Given the description of an element on the screen output the (x, y) to click on. 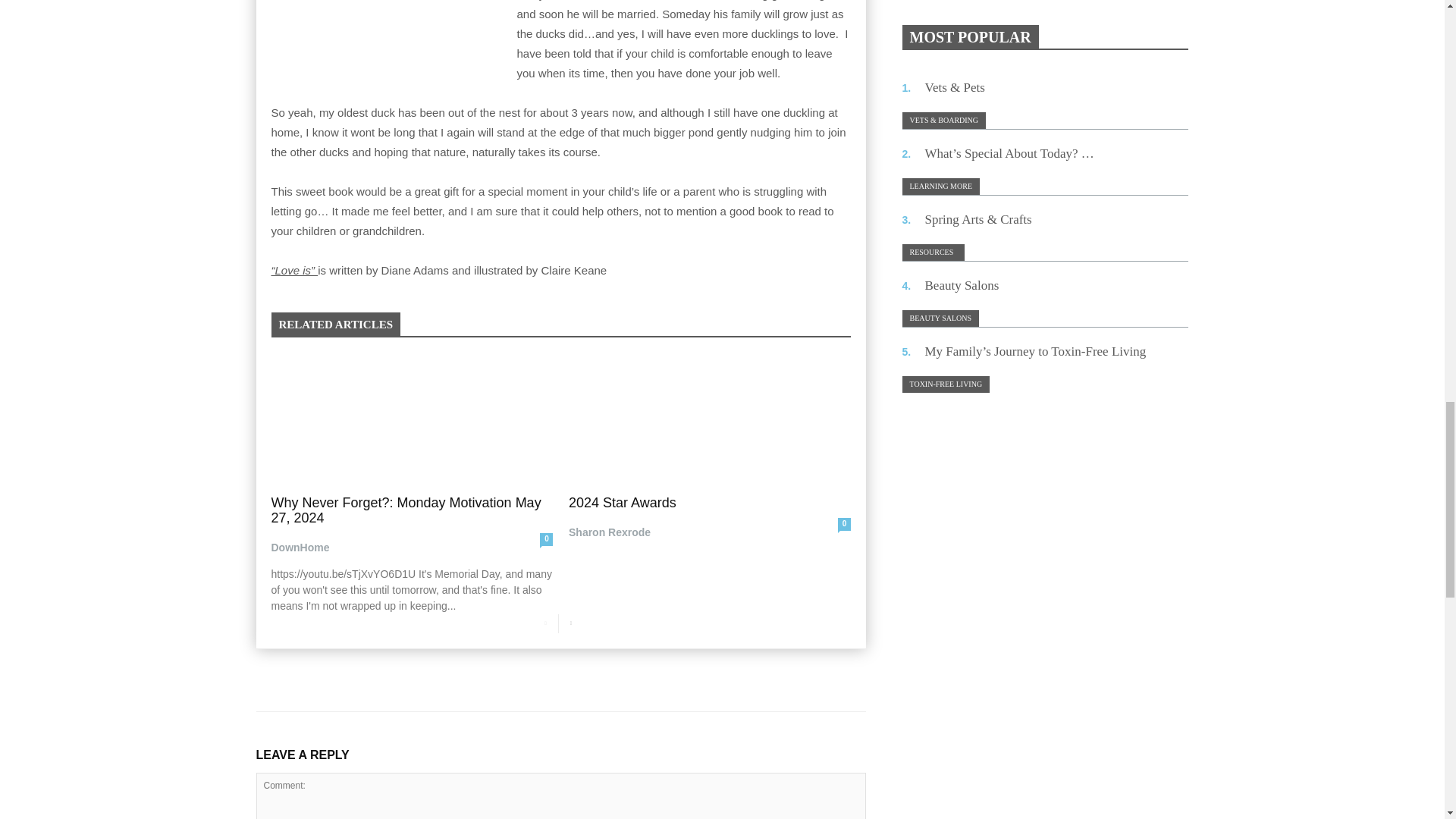
2024 Star Awards (709, 419)
Why Never Forget?: Monday Motivation May 27, 2024 (405, 510)
Why Never Forget?: Monday Motivation May 27, 2024 (411, 419)
2024 Star Awards (623, 502)
